Given the description of an element on the screen output the (x, y) to click on. 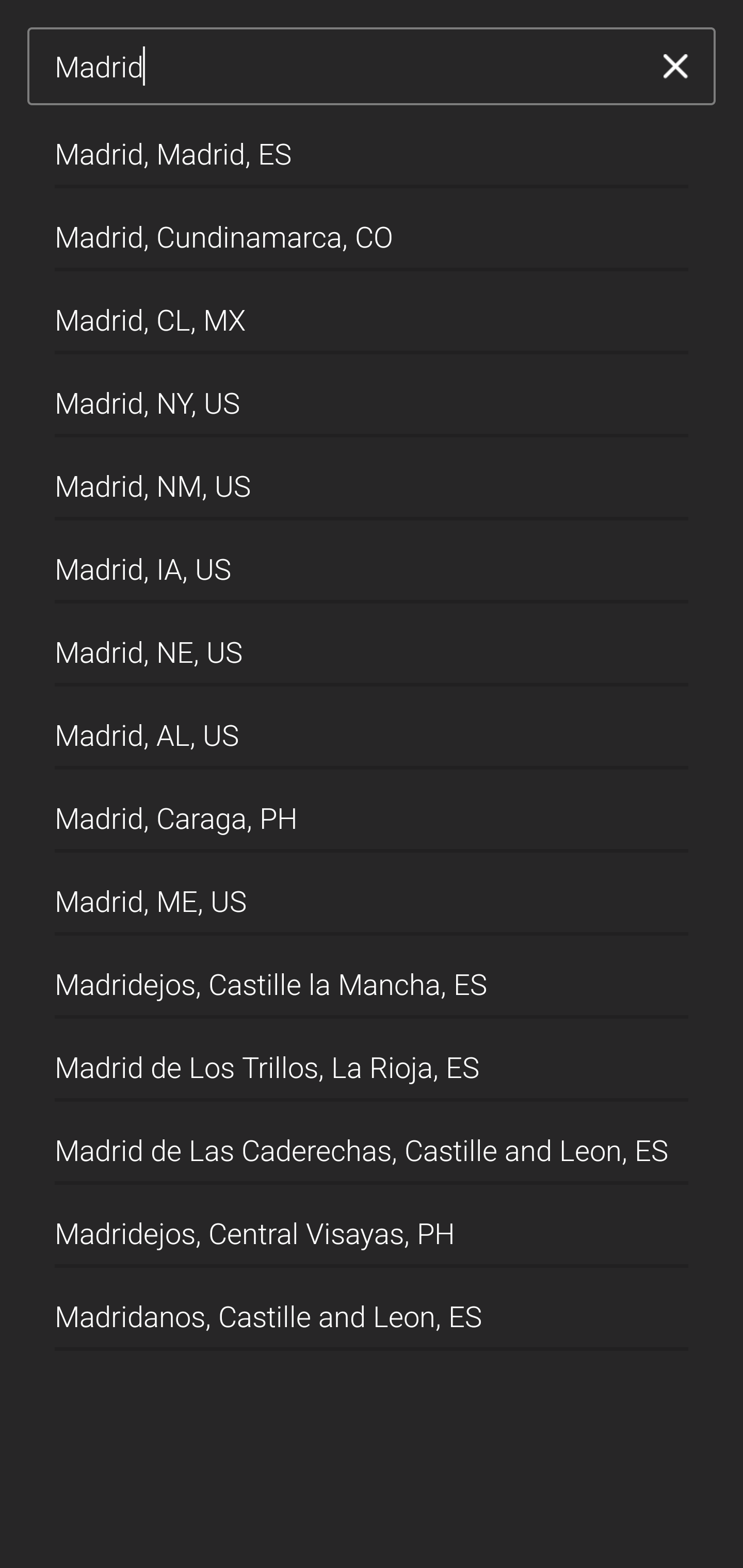
Madrid (345, 66)
Madrid, Madrid, ES (371, 146)
Madrid, Cundinamarca, CO (371, 229)
Madrid, CL, MX (371, 312)
Madrid, NY, US (371, 395)
Madrid, NM, US (371, 478)
Madrid, IA, US (371, 561)
Madrid, NE, US (371, 644)
Madrid, AL, US (371, 727)
Madrid, Caraga, PH (371, 810)
Madrid, ME, US (371, 894)
Madridejos, Castille la Mancha, ES (371, 977)
Madrid de Los Trillos, La Rioja, ES (371, 1060)
Madrid de Las Caderechas, Castille and Leon, ES (371, 1143)
Madridejos, Central Visayas, PH (371, 1226)
Madridanos, Castille and Leon, ES (371, 1309)
